Given the description of an element on the screen output the (x, y) to click on. 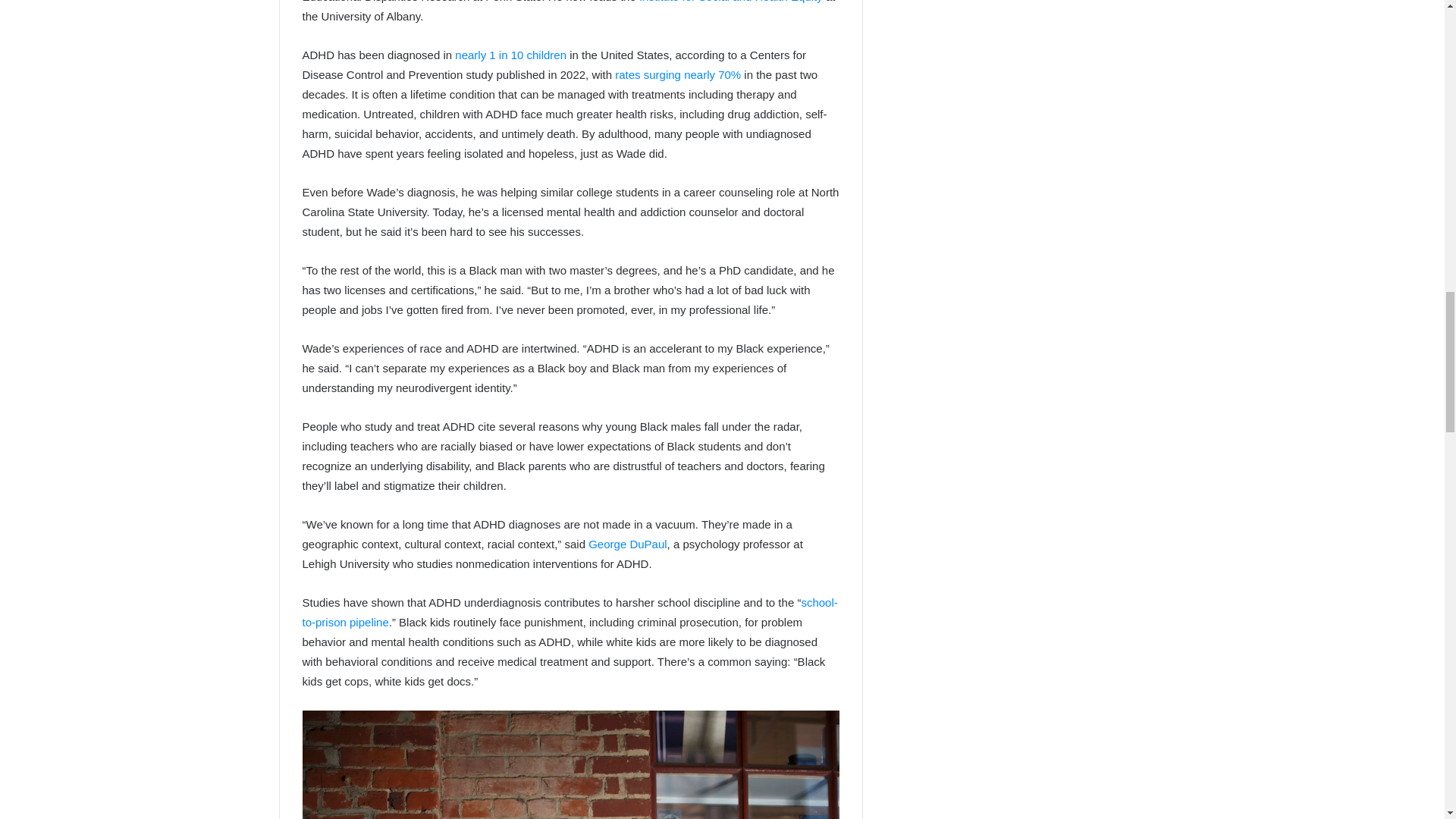
nearly 1 in 10 children (510, 54)
school-to-prison pipeline (569, 612)
George DuPaul (627, 543)
Institute for Social and Health Equity (730, 1)
